Given the description of an element on the screen output the (x, y) to click on. 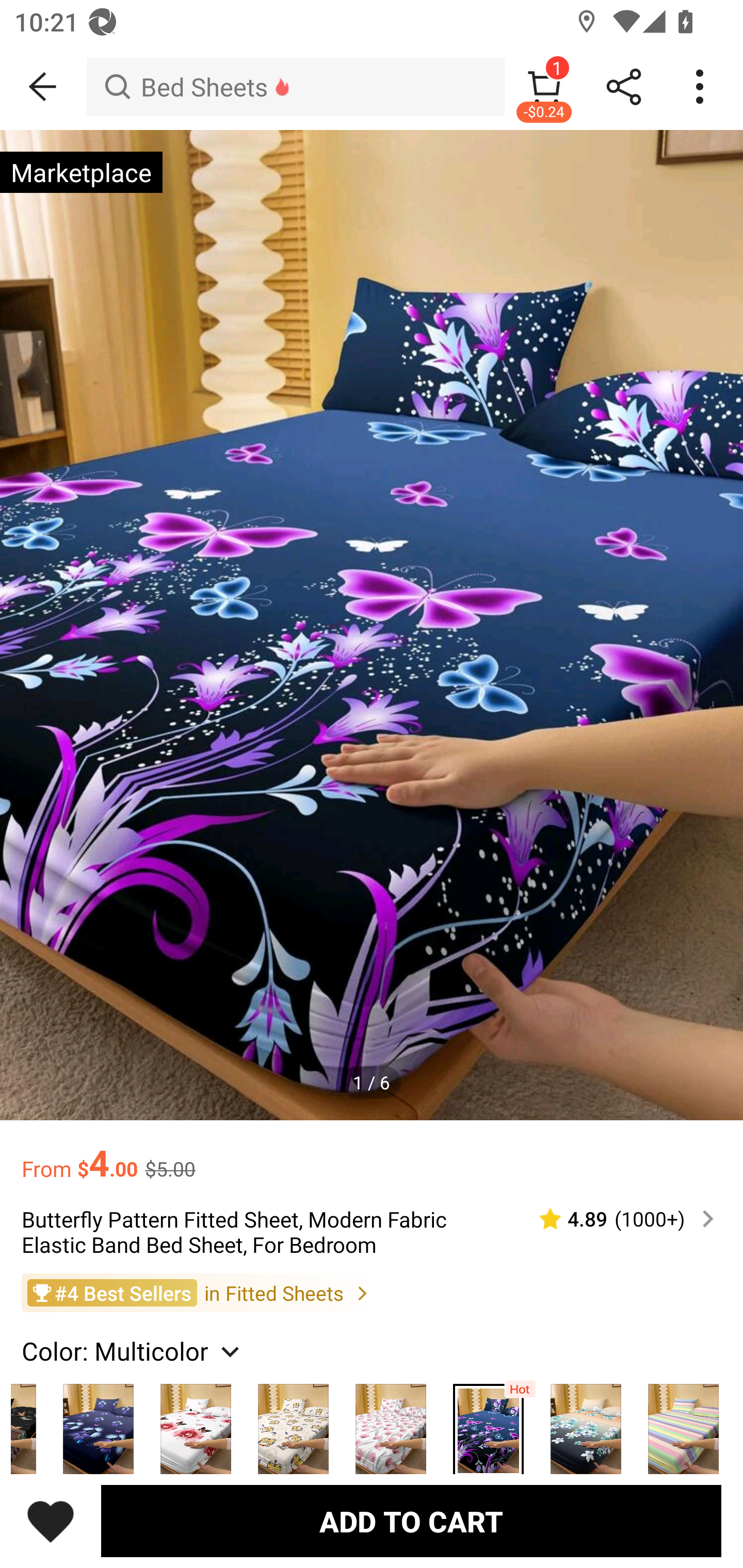
BACK (43, 86)
1 -$0.24 (543, 87)
Bed Sheets (295, 87)
1 / 6 (371, 1082)
From  $4.00 $5.00 (371, 1152)
4.89 (1000‎+) (617, 1219)
#4 Best Sellers in Fitted Sheets (371, 1292)
Color: Multicolor (132, 1350)
Multicolor (98, 1420)
Multicolor (195, 1420)
Multicolor (292, 1420)
Multicolor (390, 1420)
Multicolor (488, 1420)
Multicolor (585, 1420)
Multicolor (682, 1420)
ADD TO CART (411, 1520)
Saved (50, 1520)
